Given the description of an element on the screen output the (x, y) to click on. 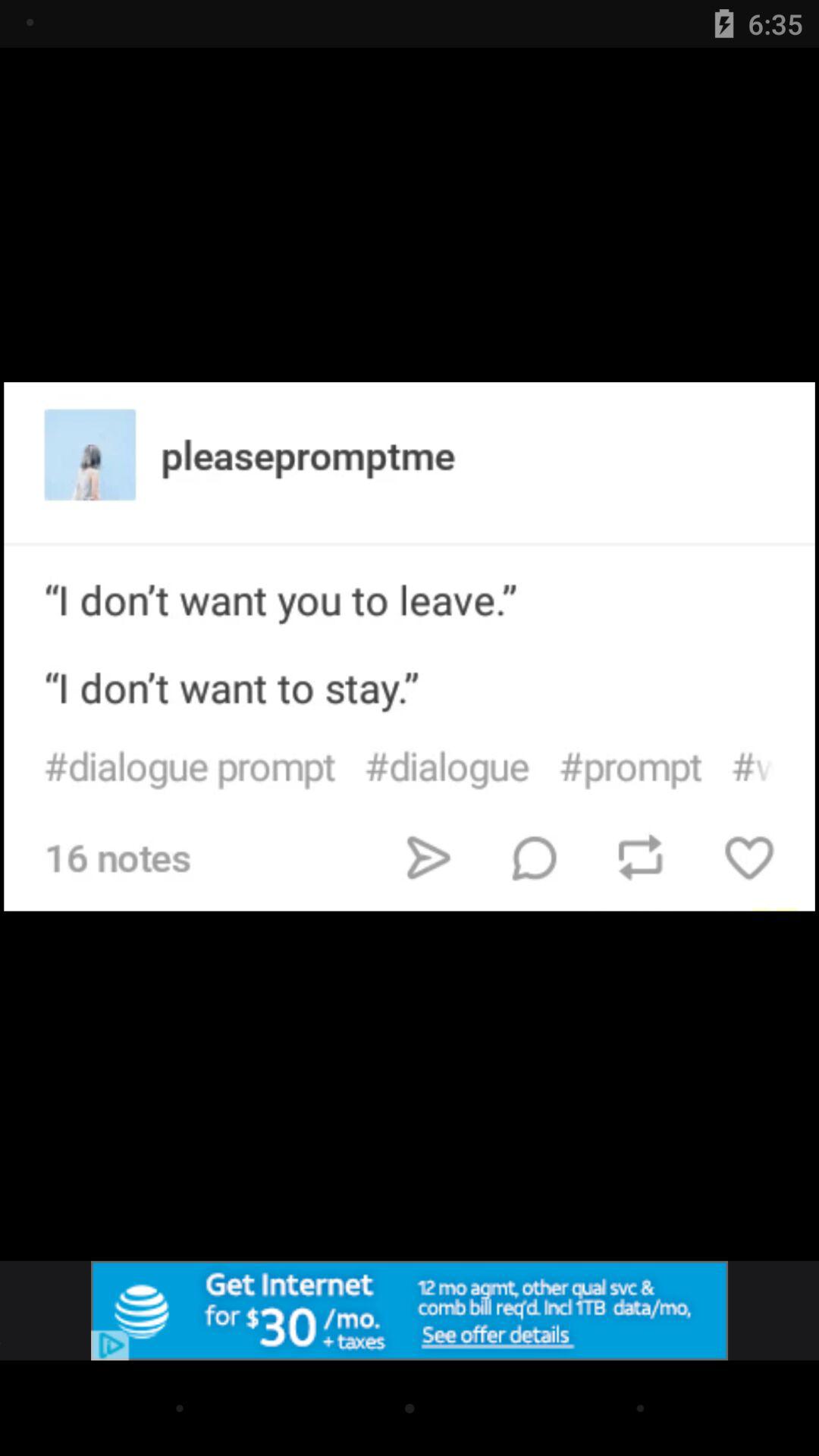
advertisement (409, 1310)
